Given the description of an element on the screen output the (x, y) to click on. 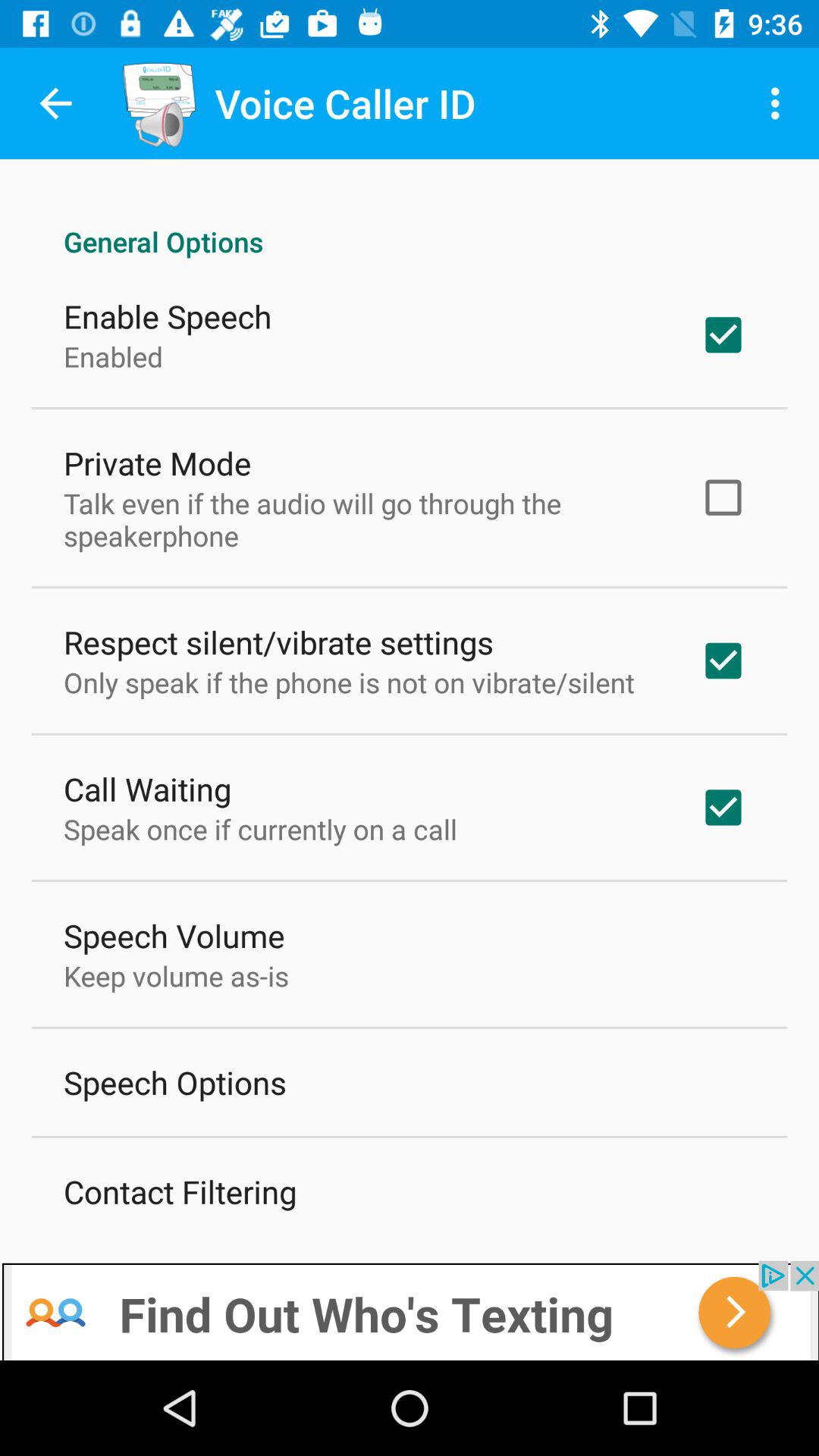
trucaller id (409, 1310)
